Given the description of an element on the screen output the (x, y) to click on. 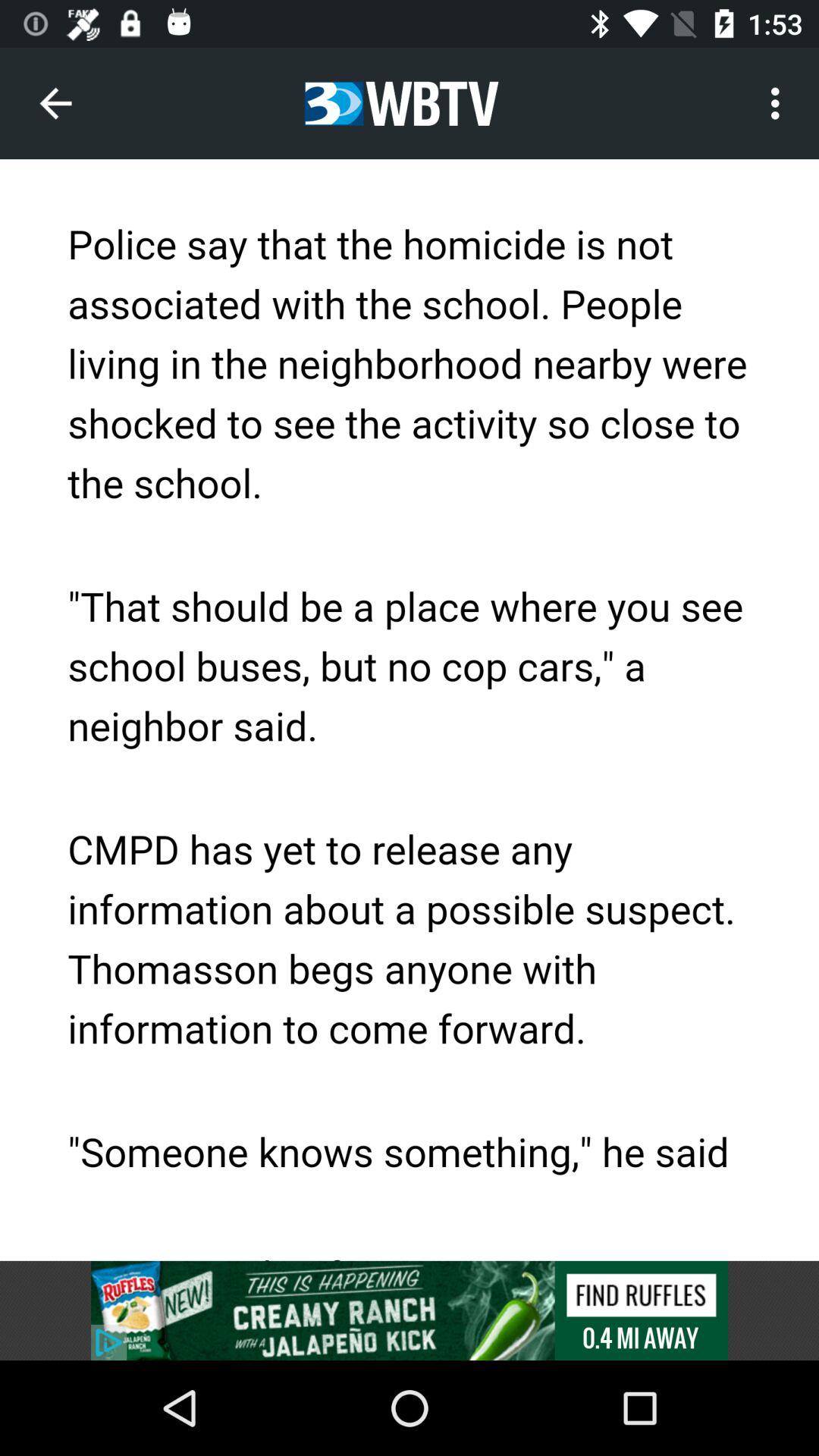
advertisement (409, 1310)
